Given the description of an element on the screen output the (x, y) to click on. 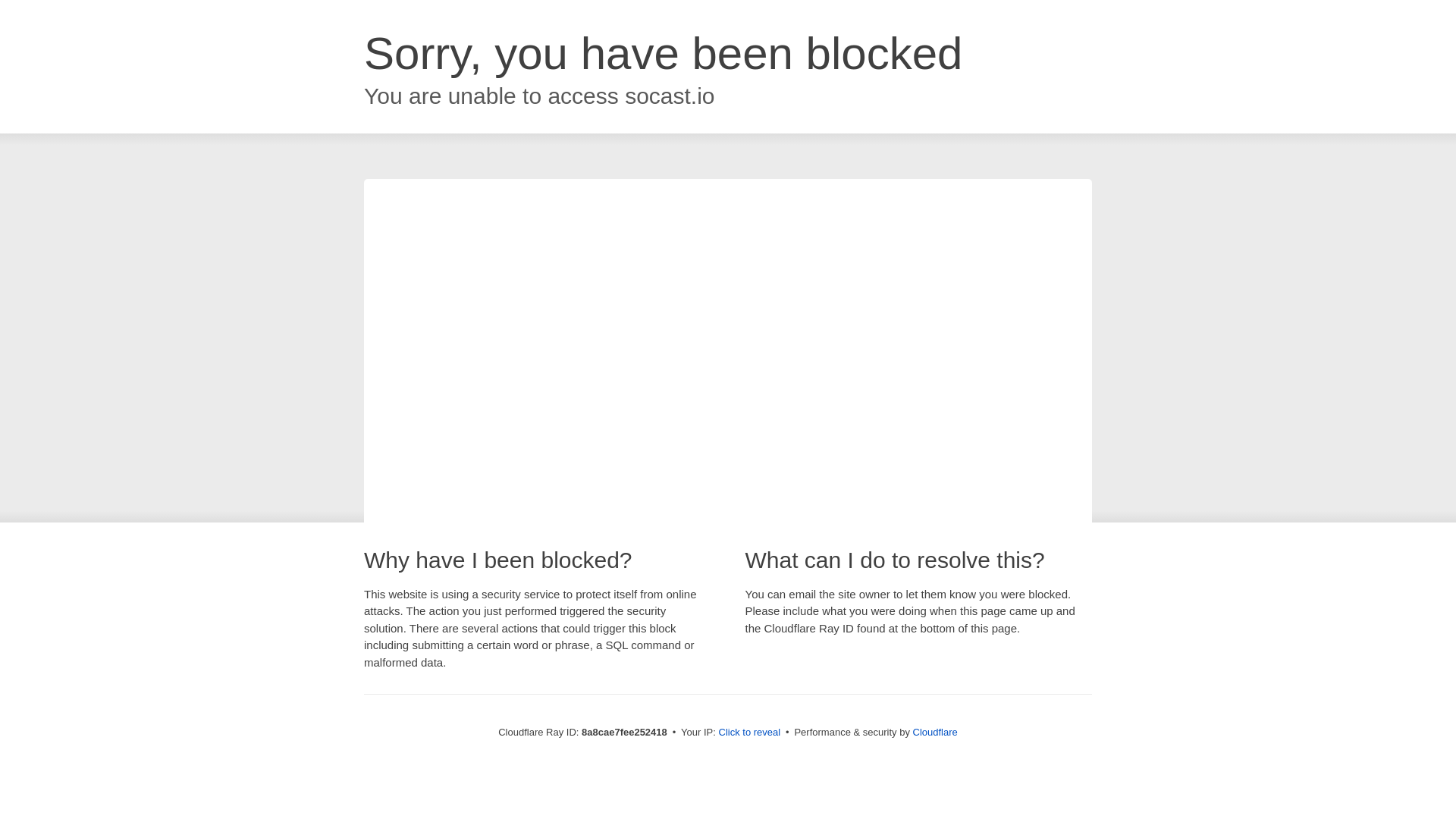
Click to reveal (749, 732)
Cloudflare (935, 731)
